Given the description of an element on the screen output the (x, y) to click on. 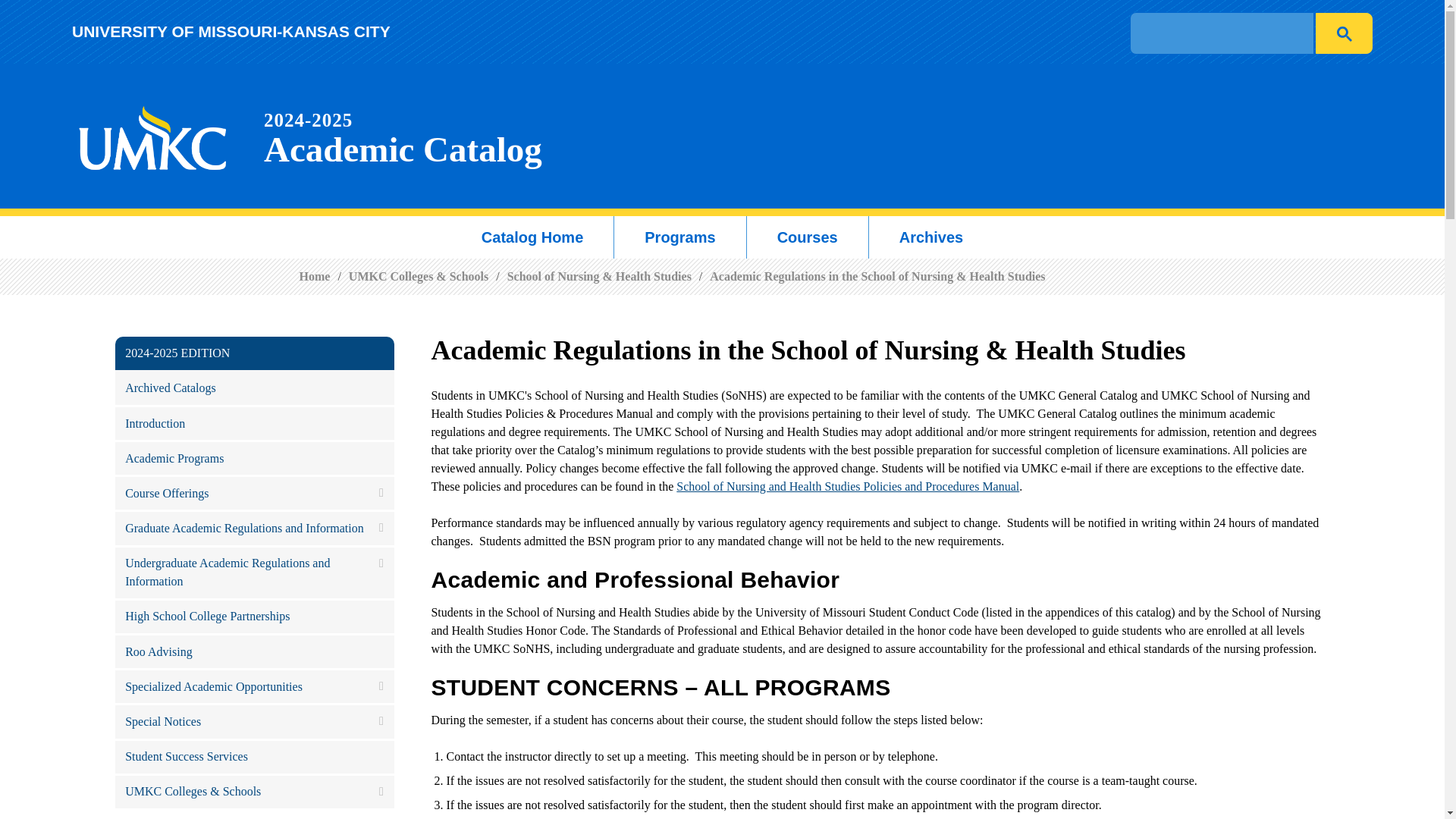
2024-2025 EDITION (254, 352)
Academic Programs (254, 459)
Toggle Course Offerings (381, 492)
Courses (807, 236)
UNIVERSITY OF MISSOURI-KANSAS CITY (230, 31)
UMKC Homepage (153, 136)
Home (314, 276)
Programs (679, 236)
Archives (931, 236)
Introduction (254, 424)
Course Offerings (254, 493)
Catalog Home (532, 236)
Submit search (402, 136)
Archived Catalogs (1344, 33)
